Given the description of an element on the screen output the (x, y) to click on. 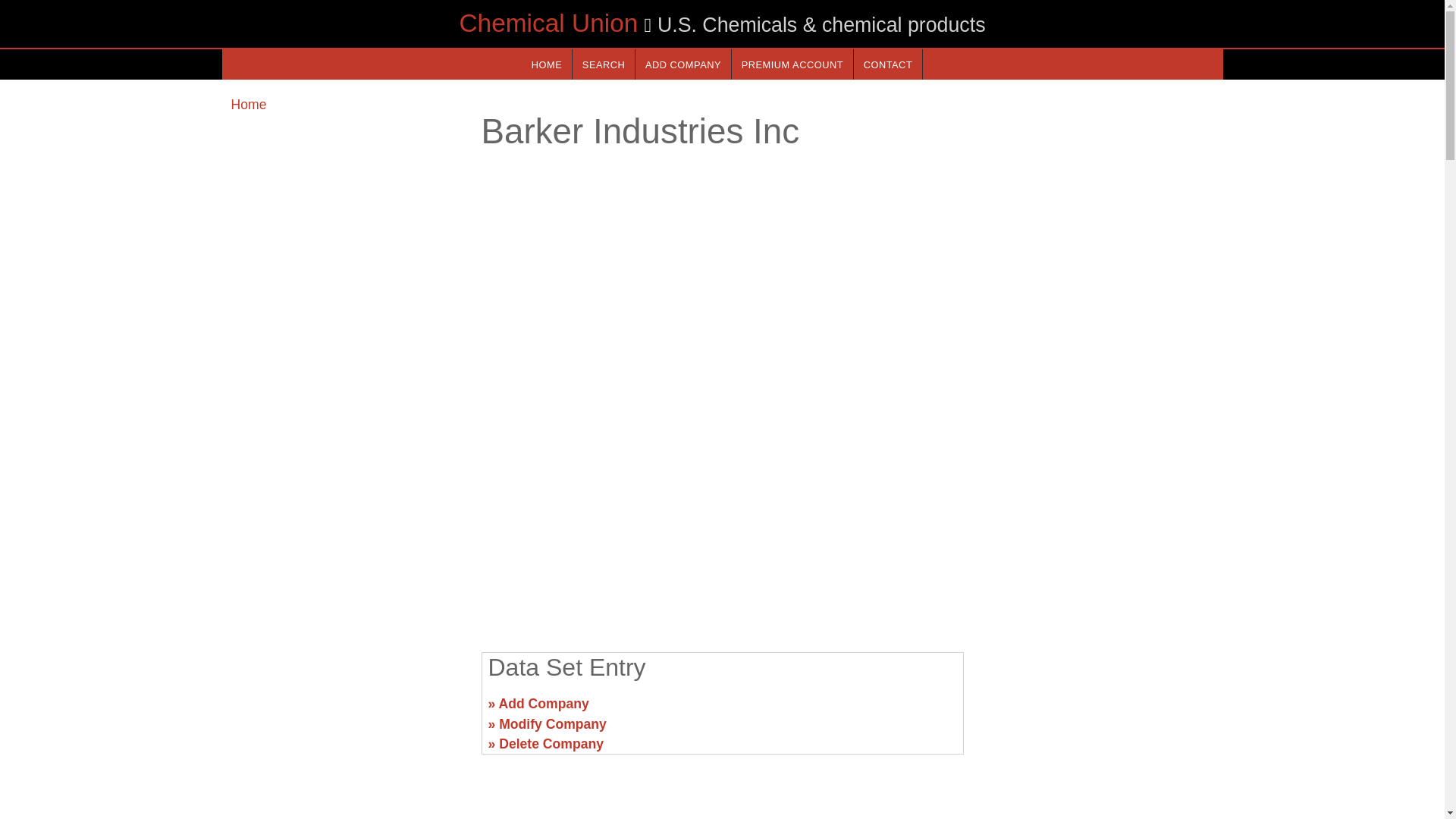
CONTACT (887, 64)
Add a new company (682, 64)
HOME (546, 64)
ADD COMPANY (682, 64)
Chemical Union (547, 22)
Advertisement (346, 710)
PREMIUM ACCOUNT (792, 64)
Premium account (792, 64)
Home (248, 104)
SEARCH (603, 64)
Advertisement (721, 522)
Advertisement (1096, 710)
Search in this webseite. (603, 64)
